Given the description of an element on the screen output the (x, y) to click on. 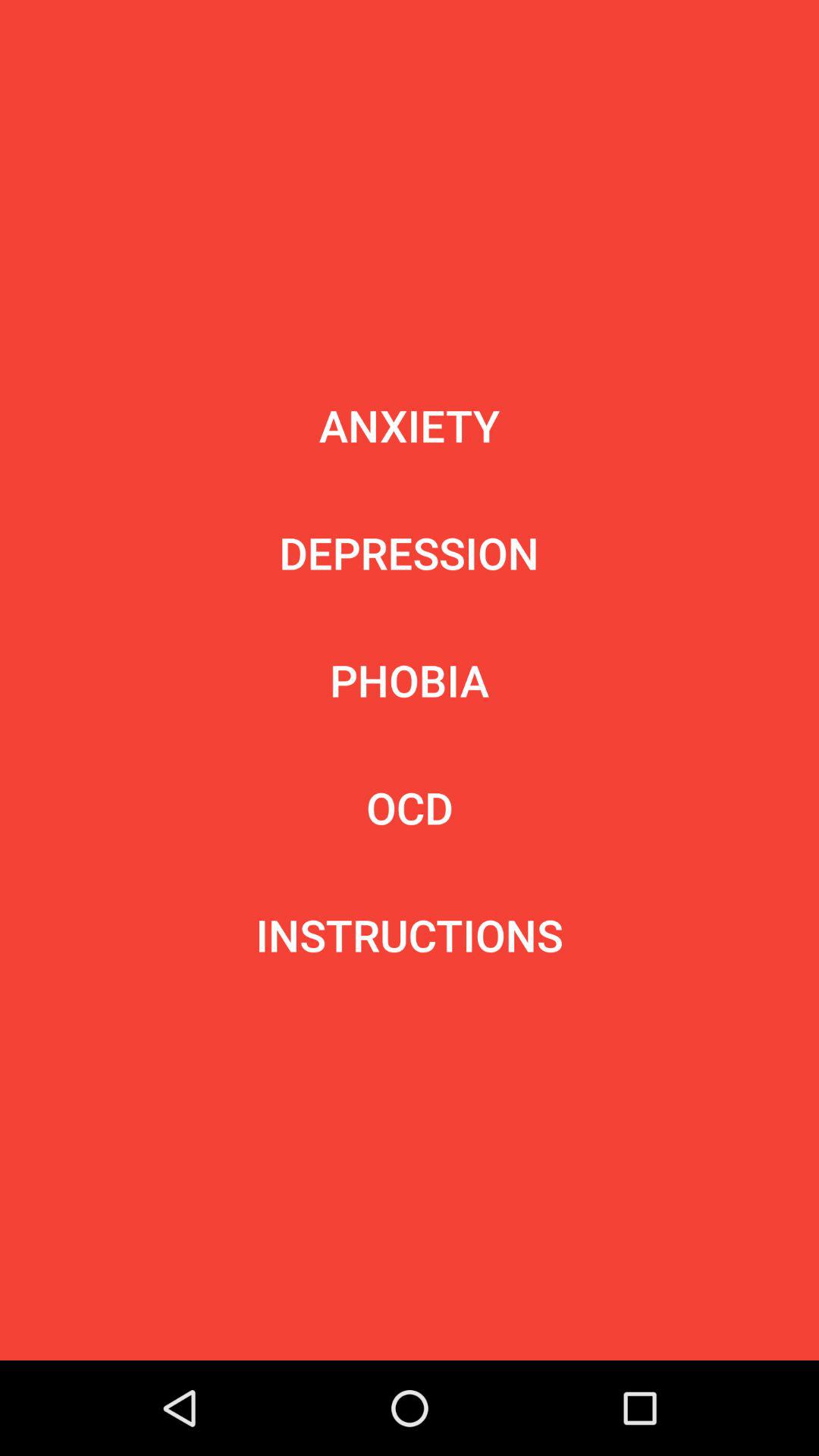
turn on item above the instructions (409, 807)
